Given the description of an element on the screen output the (x, y) to click on. 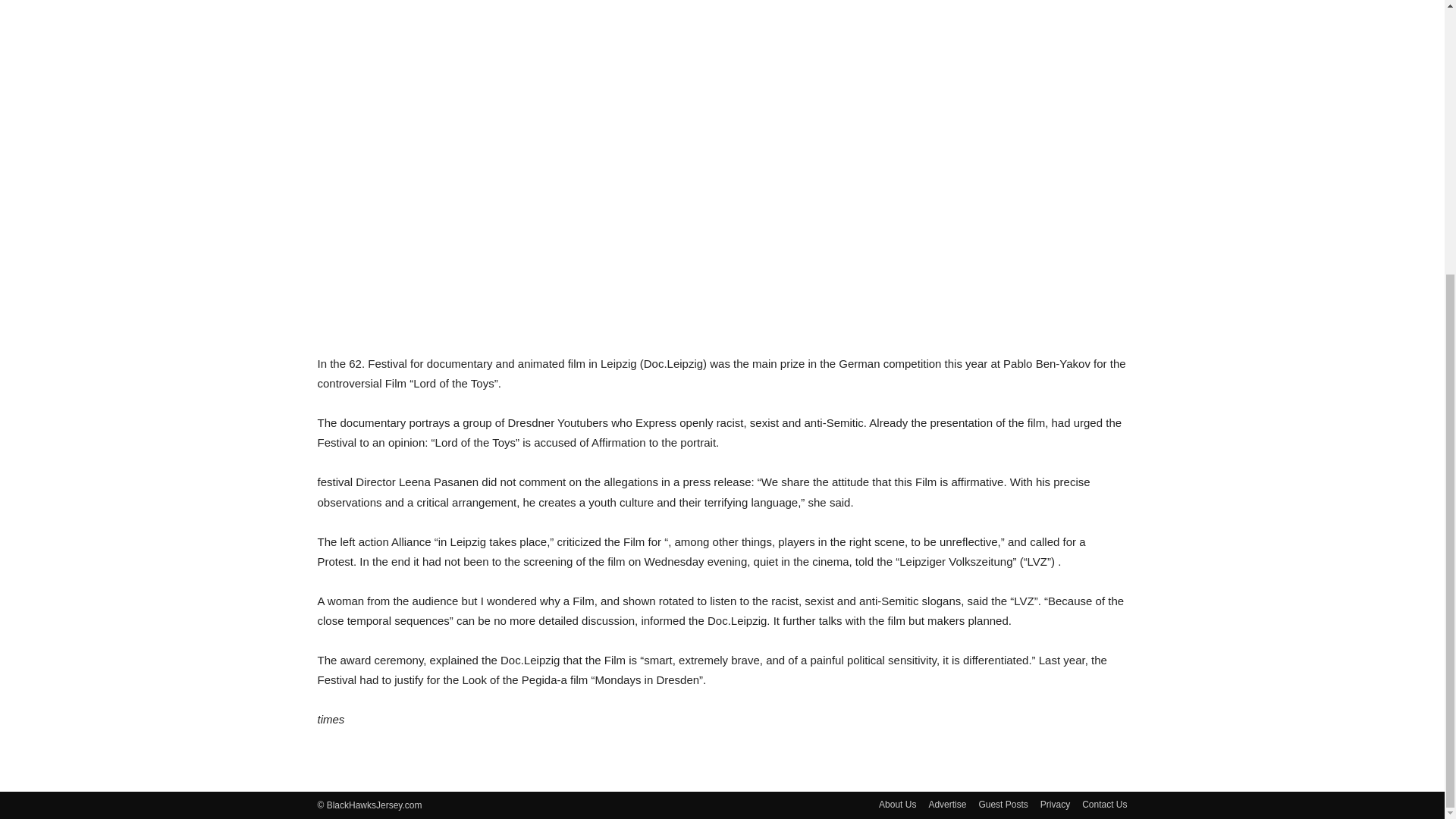
Advertise (947, 804)
About Us (897, 804)
Privacy (1055, 804)
Guest Posts (1002, 804)
Contact Us (1103, 804)
